Given the description of an element on the screen output the (x, y) to click on. 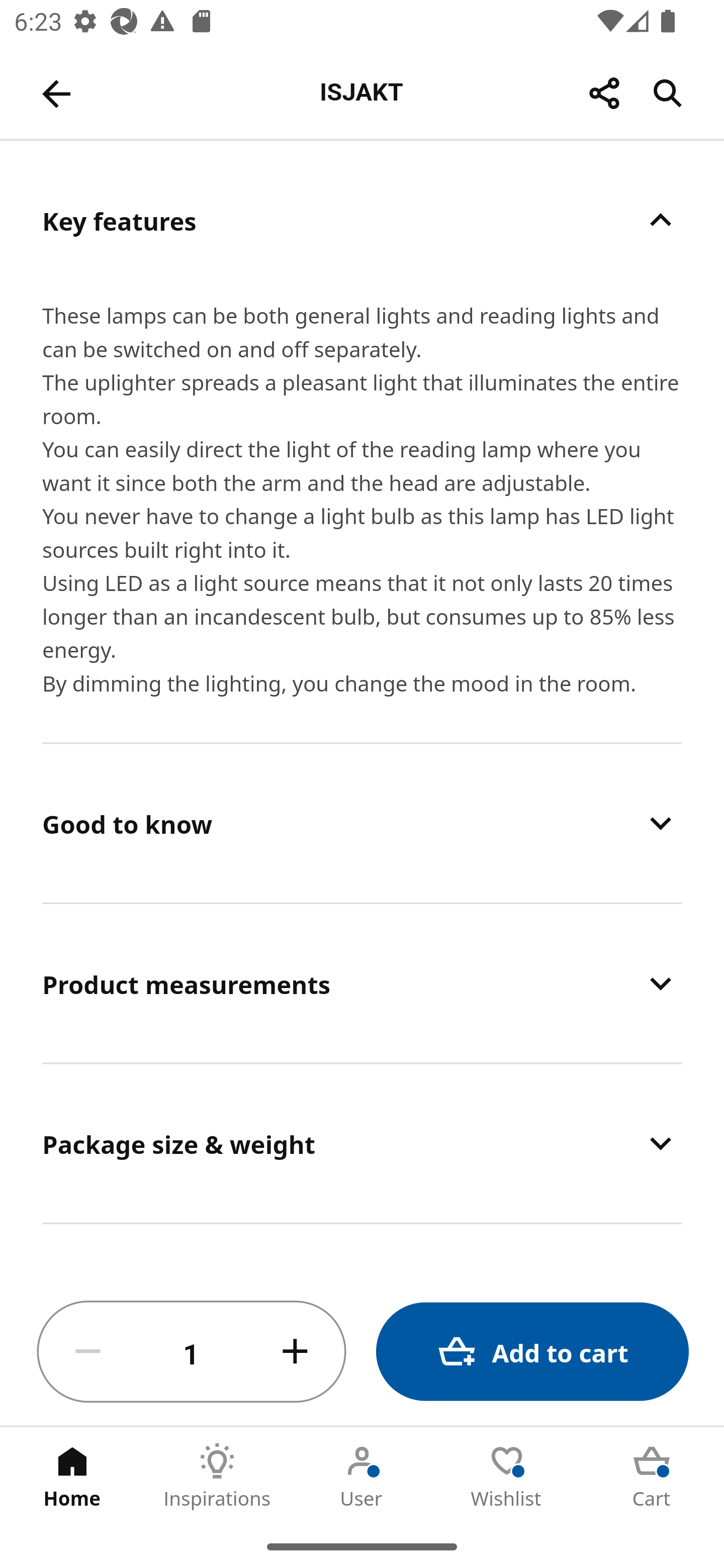
Key features (361, 219)
Good to know (361, 823)
Product measurements (361, 983)
Package size & weight (361, 1143)
Add to cart (531, 1352)
1 (191, 1352)
Home
Tab 1 of 5 (72, 1476)
Inspirations
Tab 2 of 5 (216, 1476)
User
Tab 3 of 5 (361, 1476)
Wishlist
Tab 4 of 5 (506, 1476)
Cart
Tab 5 of 5 (651, 1476)
